Given the description of an element on the screen output the (x, y) to click on. 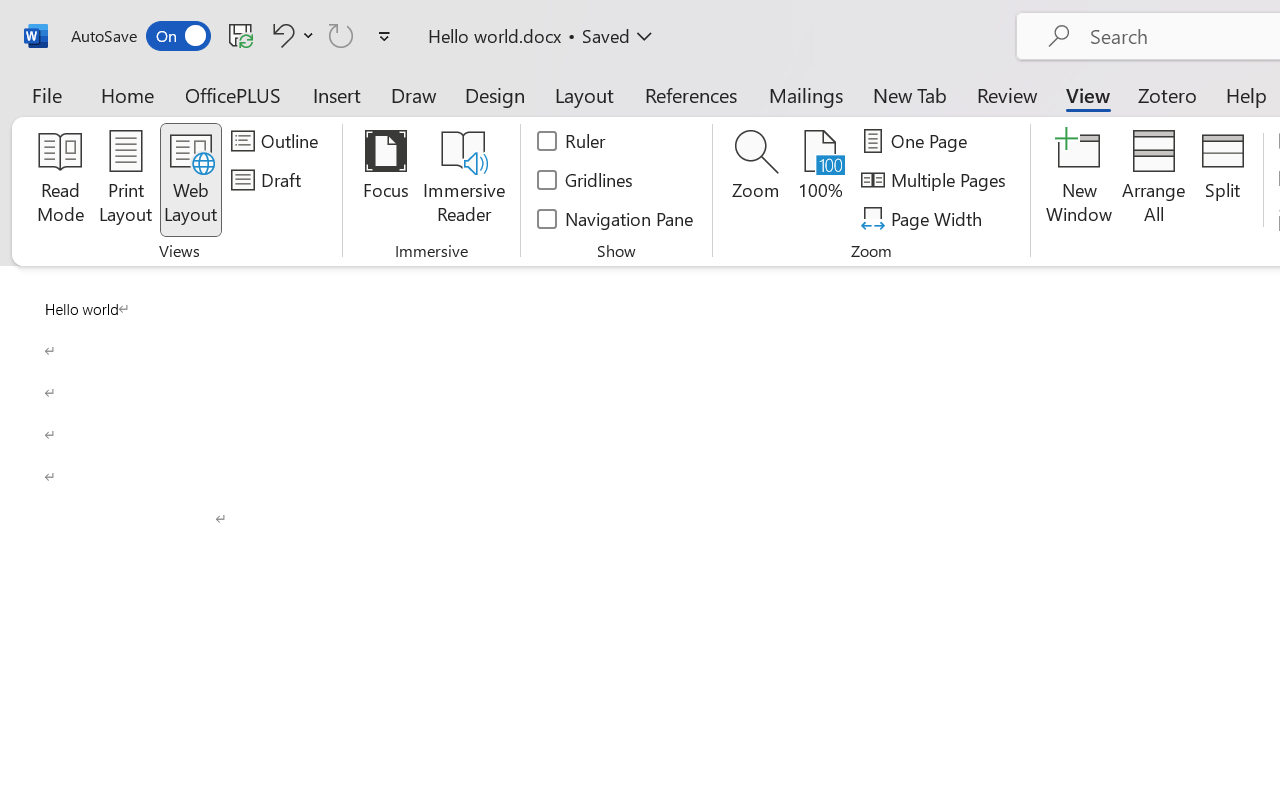
Focus (385, 179)
View (1087, 94)
Zotero (1166, 94)
Home (127, 94)
Read Mode (60, 179)
Undo Paragraph Formatting (280, 35)
Zoom... (755, 179)
New Tab (909, 94)
Draft (269, 179)
Draw (413, 94)
Review (1007, 94)
